Given the description of an element on the screen output the (x, y) to click on. 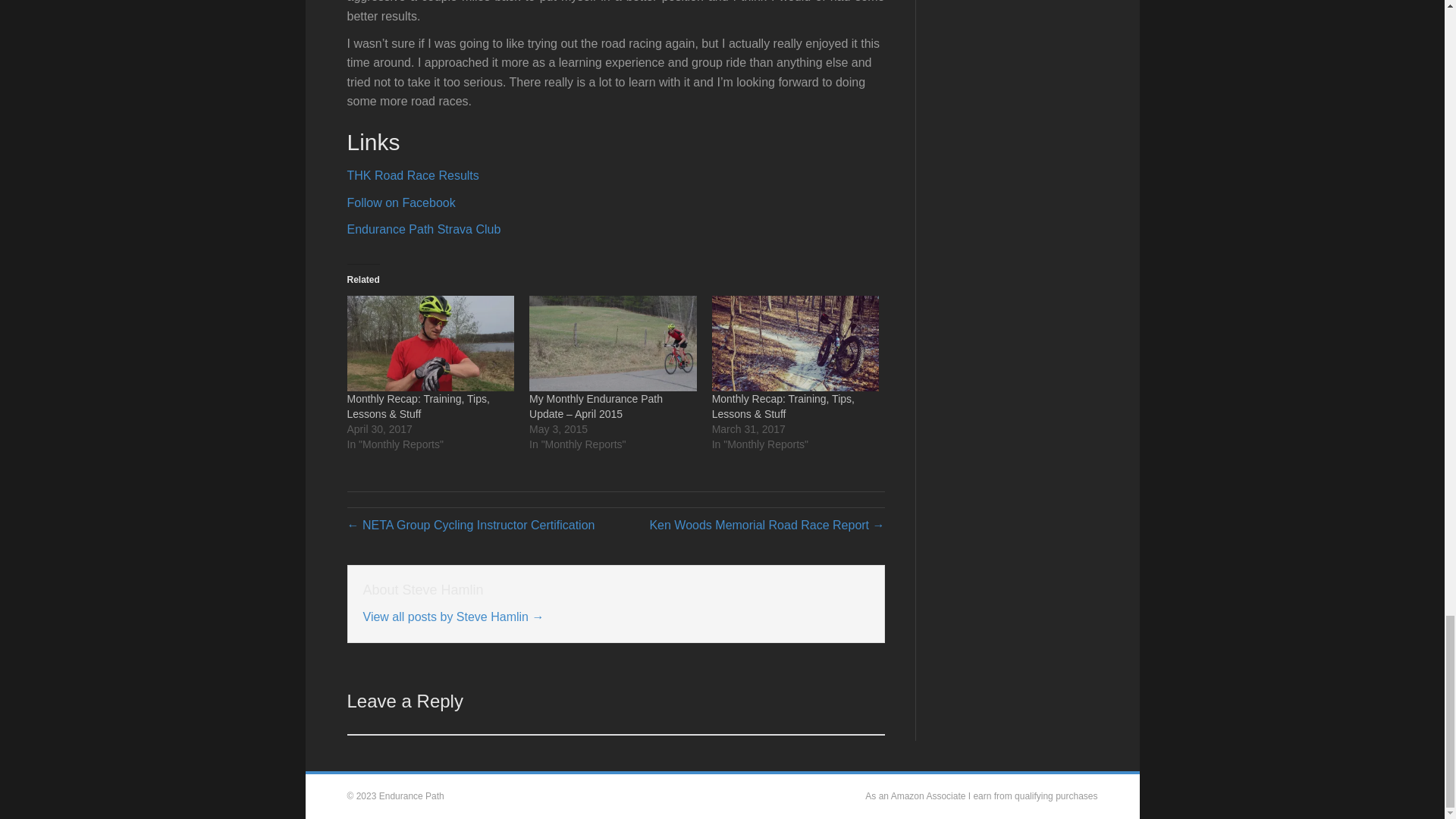
THK Road Race Results (413, 174)
Endurance Path Strava Club (423, 228)
Follow on Facebook (401, 202)
